Given the description of an element on the screen output the (x, y) to click on. 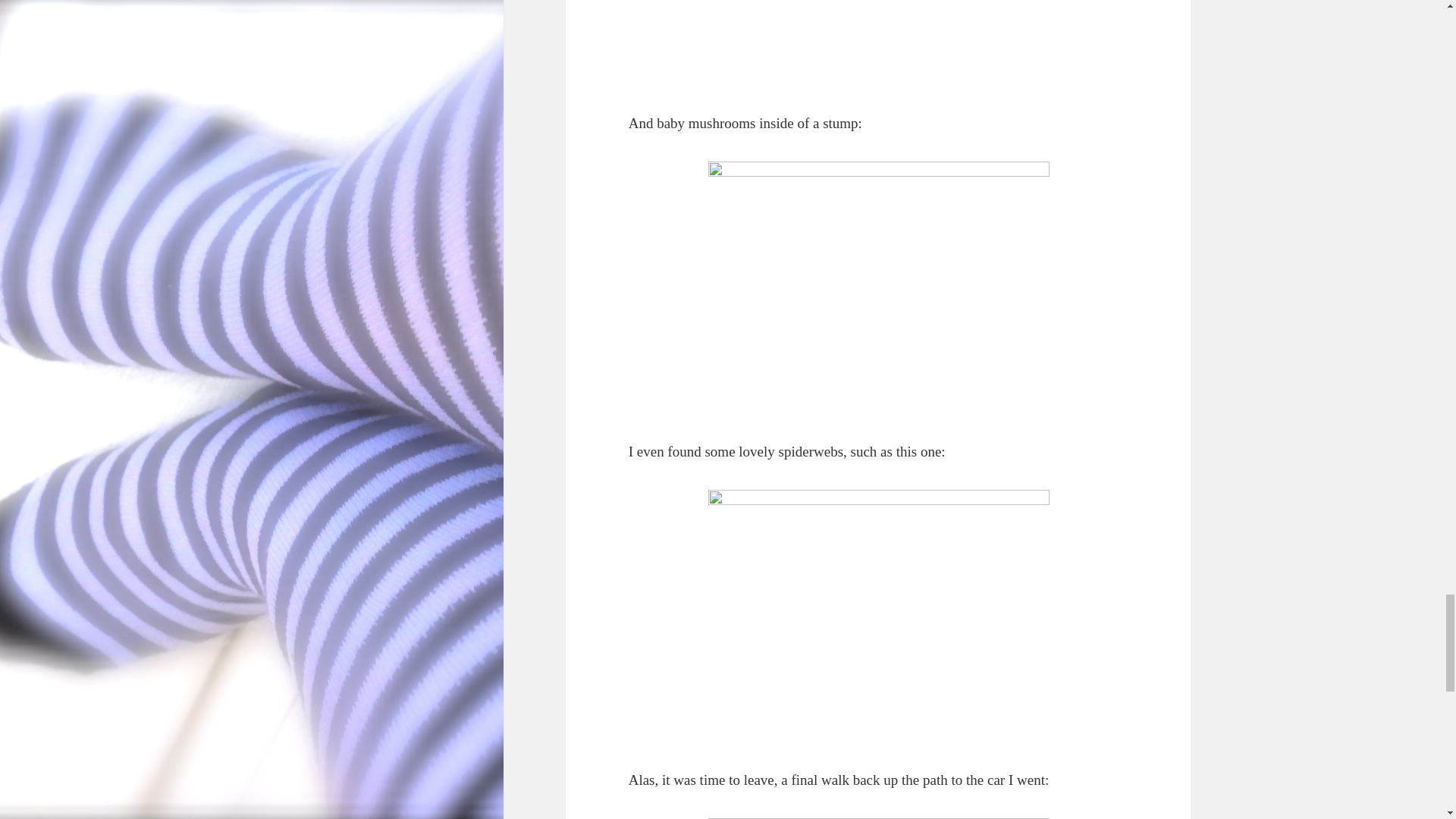
1007 will-big shrooms (878, 43)
1007 will-spiderweb (878, 615)
1007 will-baby shrooms (878, 287)
